Given the description of an element on the screen output the (x, y) to click on. 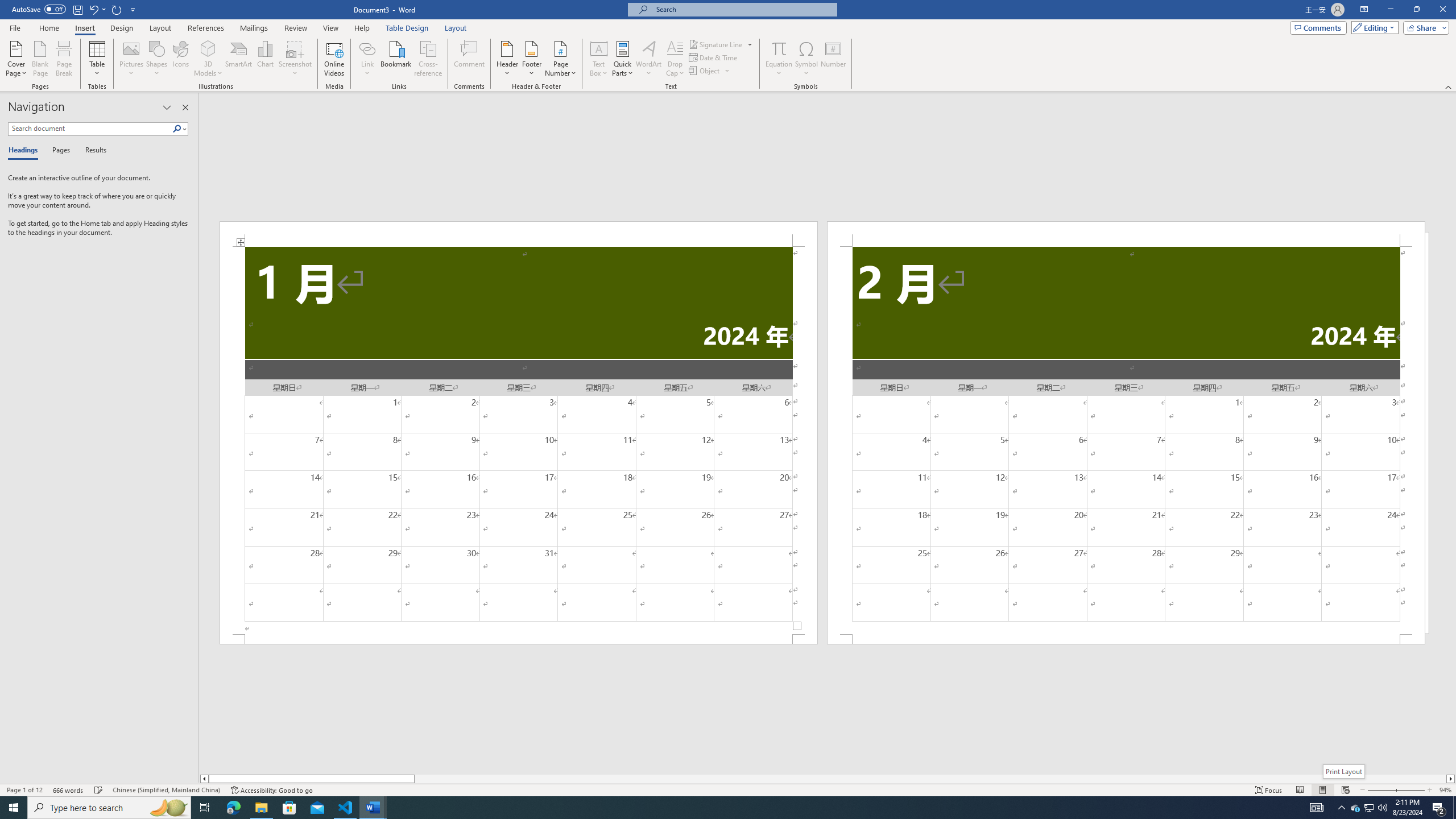
Class: NetUIScrollBar (827, 778)
Number... (833, 58)
Class: MsoCommandBar (728, 789)
Equation (778, 58)
3D Models (208, 48)
Icons (180, 58)
Drop Cap (674, 58)
Mode (1372, 27)
Pages (59, 150)
Column right (1450, 778)
